Given the description of an element on the screen output the (x, y) to click on. 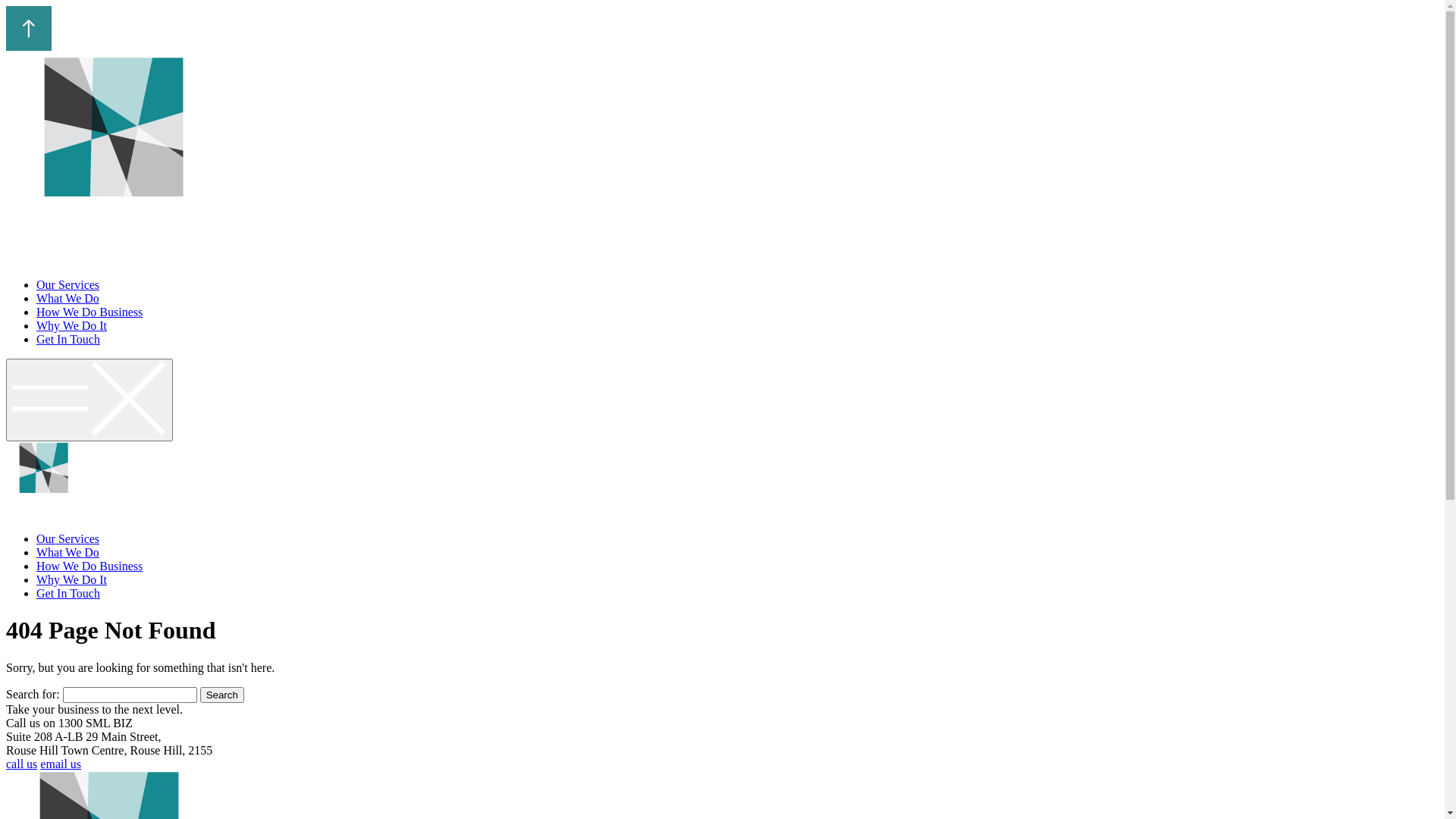
Why We Do It Element type: text (71, 579)
Get In Touch Element type: text (68, 592)
Logo Element type: hover (114, 158)
Get In Touch Element type: text (68, 338)
How We Do Business Element type: text (89, 565)
What We Do Element type: text (67, 552)
What We Do Element type: text (67, 297)
email us Element type: text (60, 763)
call us Element type: text (21, 763)
Why We Do It Element type: text (71, 325)
How We Do Business Element type: text (89, 311)
Our Services Element type: text (67, 284)
Our Services Element type: text (67, 538)
Search Element type: text (222, 694)
